Given the description of an element on the screen output the (x, y) to click on. 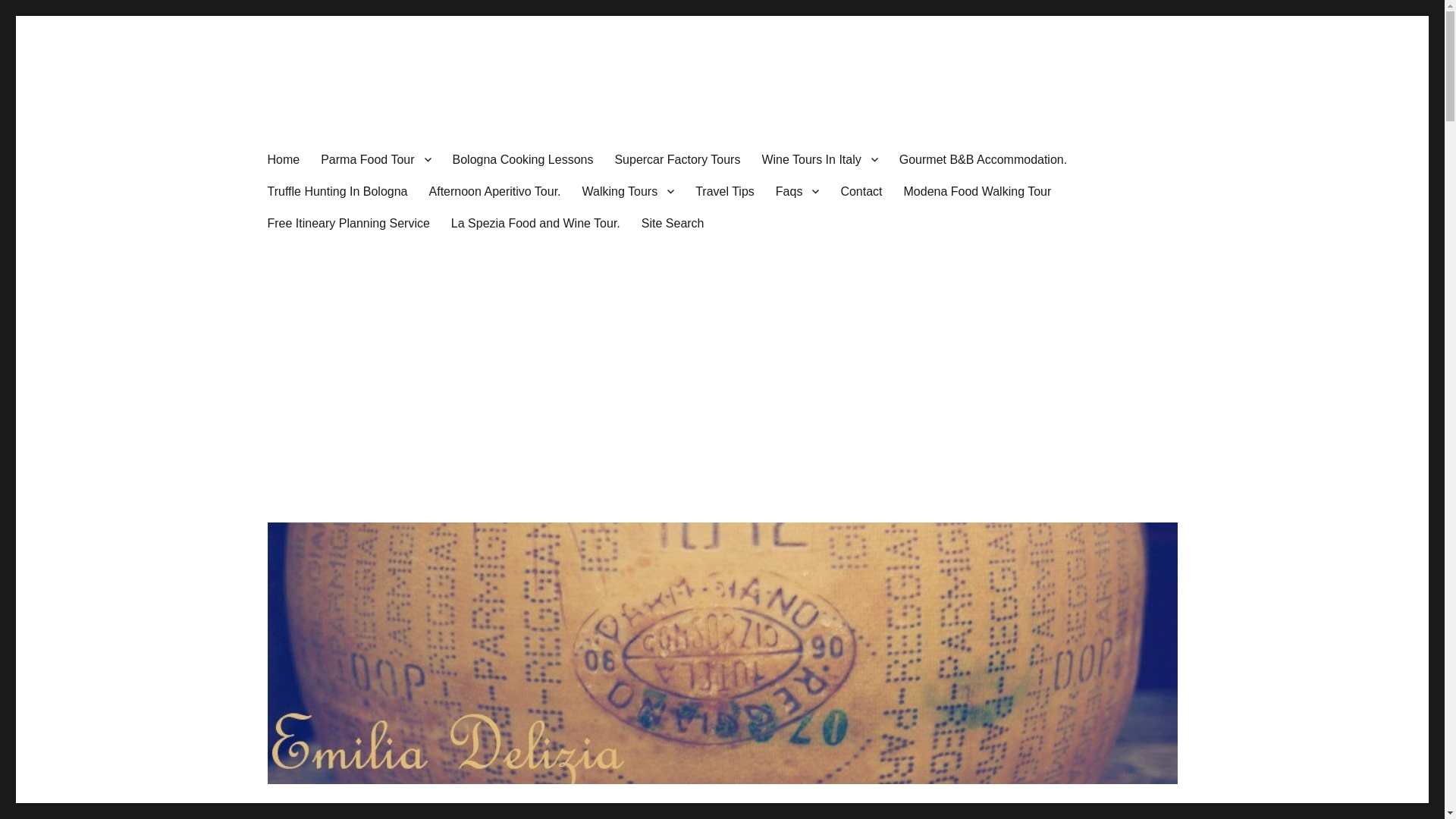
Afternoon Aperitivo Tour. (495, 191)
Walking Tours (628, 191)
Site Search (672, 223)
Parma Food Tour (375, 159)
Faqs (797, 191)
Truffle Hunting In Bologna (336, 191)
Home (283, 159)
Free Itineary Planning Service (347, 223)
Contact (860, 191)
Emilia Delizia (334, 114)
La Spezia Food and Wine Tour. (535, 223)
Travel Tips (724, 191)
Bologna Cooking Lessons (523, 159)
Wine Tours In Italy (819, 159)
